Given the description of an element on the screen output the (x, y) to click on. 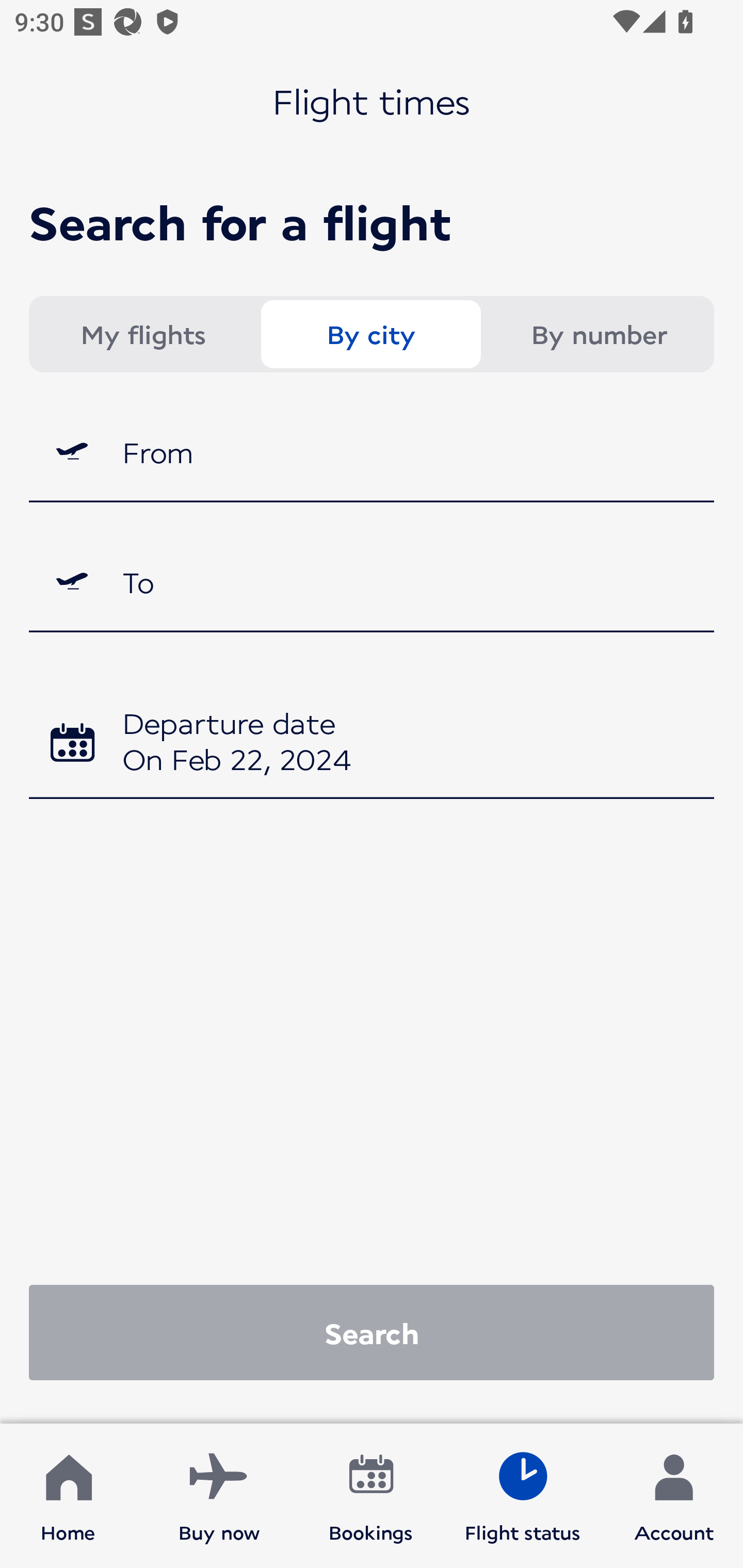
My flights (142, 334)
By city (370, 334)
By number (598, 334)
From (371, 451)
To (371, 581)
On Feb 22, 2024 Departure date (371, 744)
Search (371, 1331)
Home (68, 1495)
Buy now (219, 1495)
Bookings (370, 1495)
Account (674, 1495)
